Given the description of an element on the screen output the (x, y) to click on. 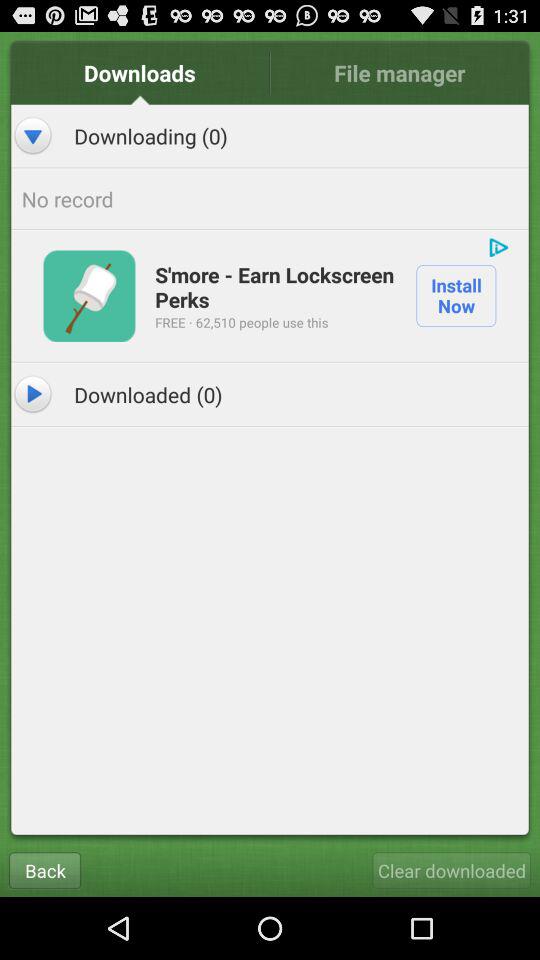
press file manager item (399, 72)
